Given the description of an element on the screen output the (x, y) to click on. 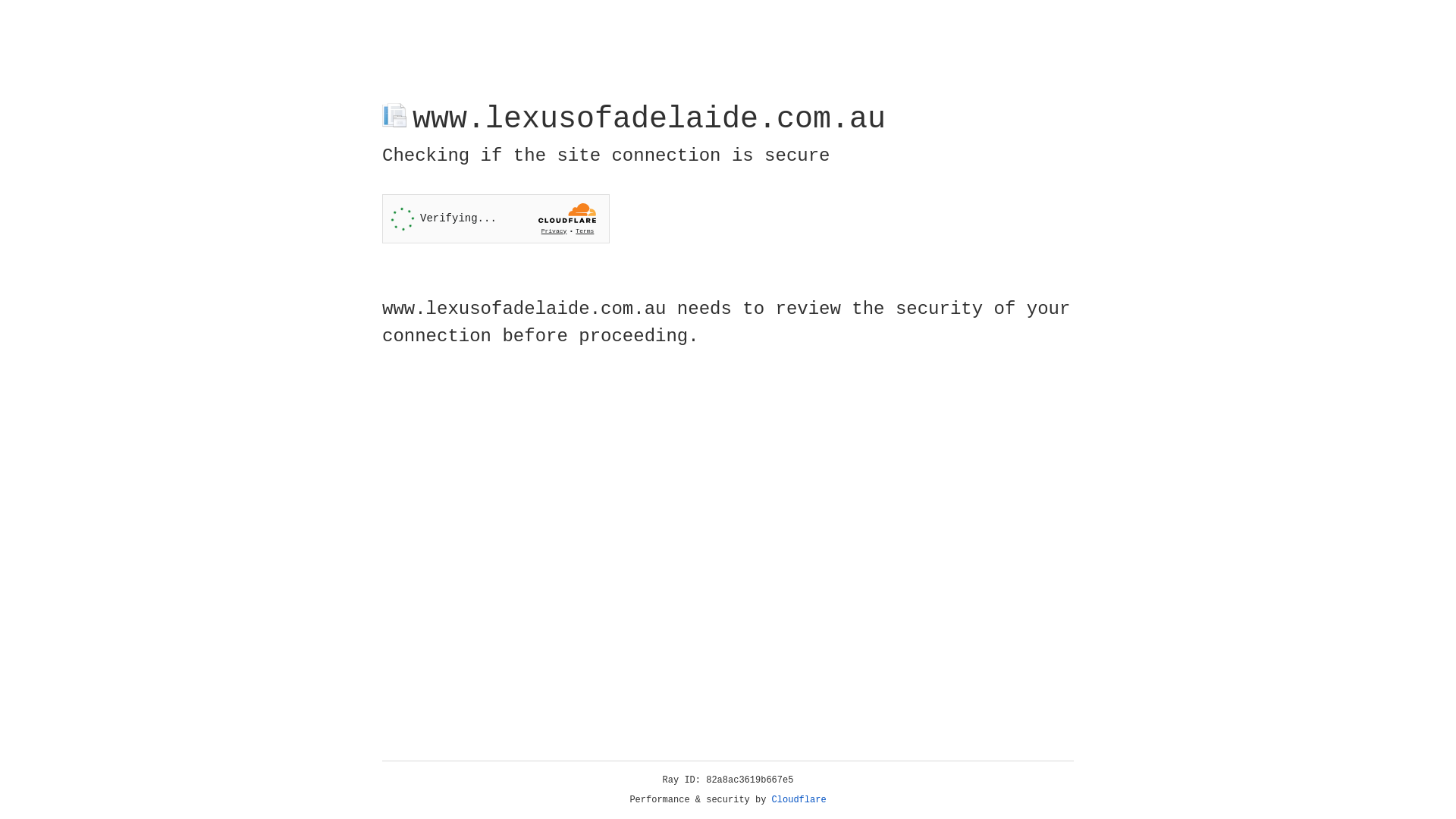
Widget containing a Cloudflare security challenge Element type: hover (495, 218)
Cloudflare Element type: text (798, 799)
